Given the description of an element on the screen output the (x, y) to click on. 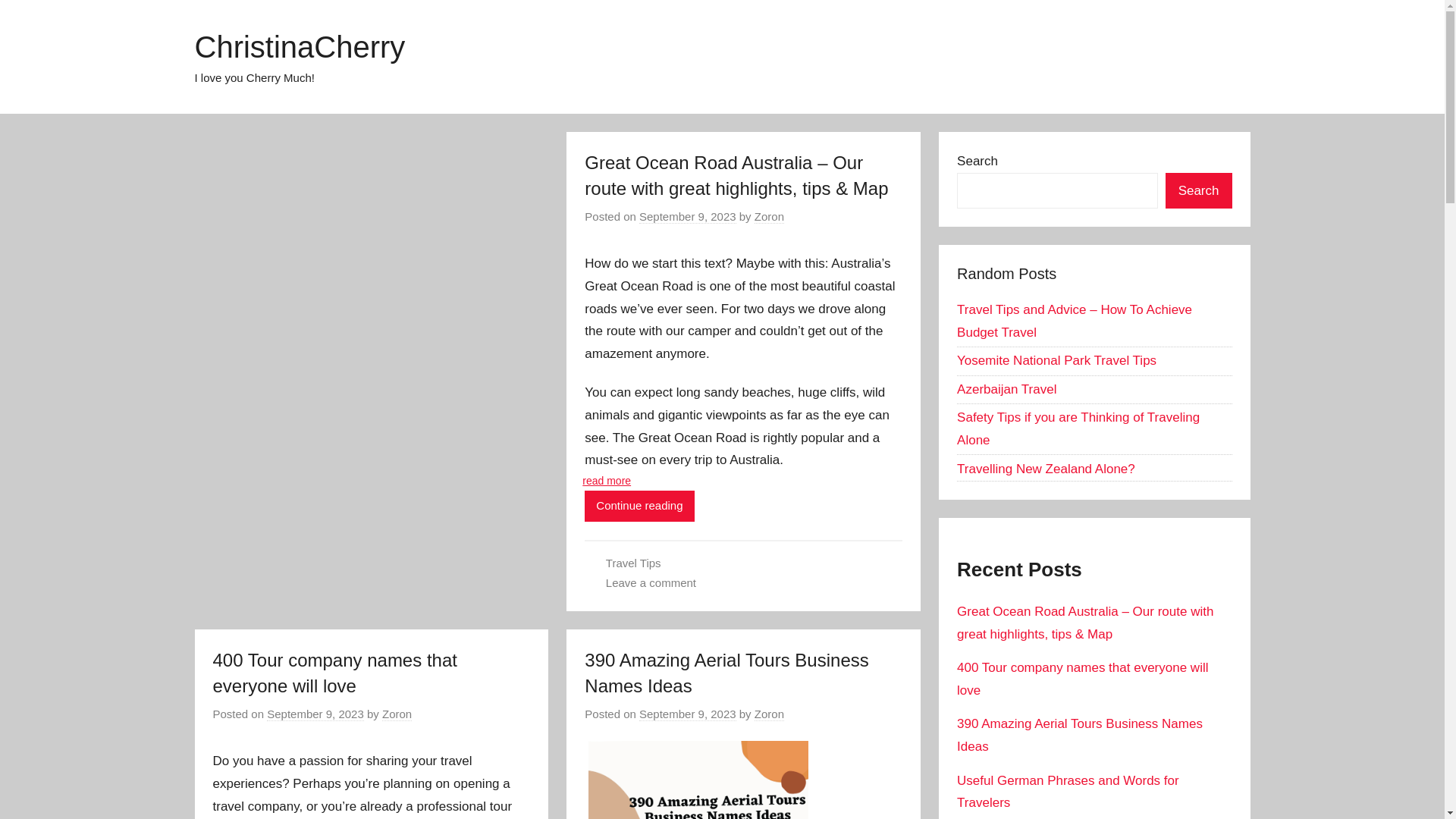
Travel Tips (633, 562)
Zoron (769, 714)
Permalink to Travelling New Zealand Alone? (1045, 468)
Zoron (769, 216)
ChristinaCherry (298, 46)
400 Tour company names that everyone will love (334, 673)
September 9, 2023 (687, 714)
View all posts by Zoron (769, 216)
September 9, 2023 (315, 714)
390 Amazing Aerial Tours Business Names Ideas (726, 673)
Leave a comment (650, 582)
View all posts by Zoron (396, 714)
Zoron (396, 714)
View all posts by Zoron (769, 714)
